Given the description of an element on the screen output the (x, y) to click on. 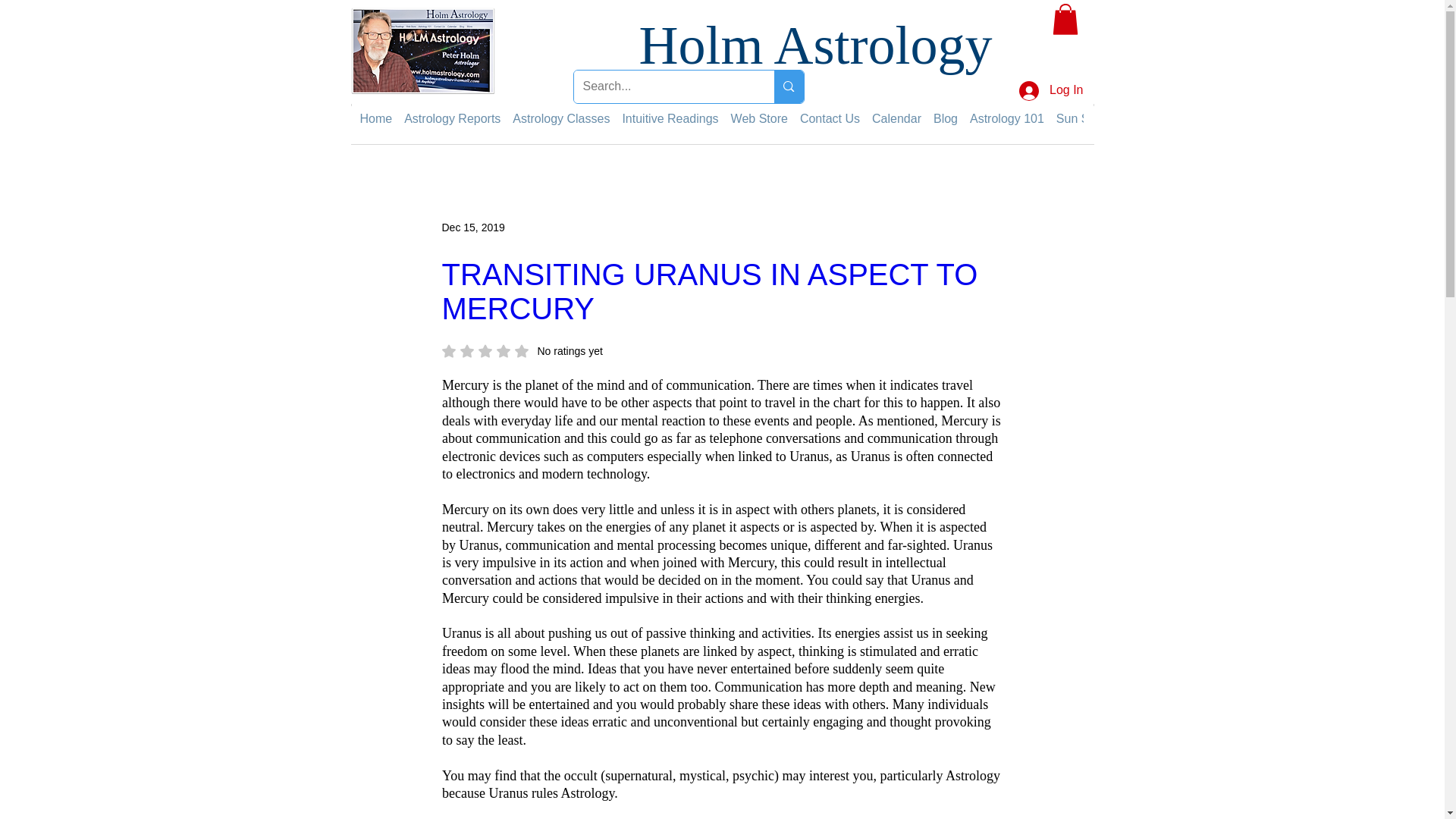
Astrology Classes (561, 118)
Dec 15, 2019 (472, 227)
Astrology Reports (452, 118)
Web Store (758, 118)
Sun Signs (1084, 118)
Contact Us (829, 118)
Astrology 101 (1006, 118)
Blog (945, 118)
The Planets (1156, 118)
Intuitive Readings (669, 118)
Log In (1051, 90)
Home (375, 118)
Calendar (896, 118)
